Given the description of an element on the screen output the (x, y) to click on. 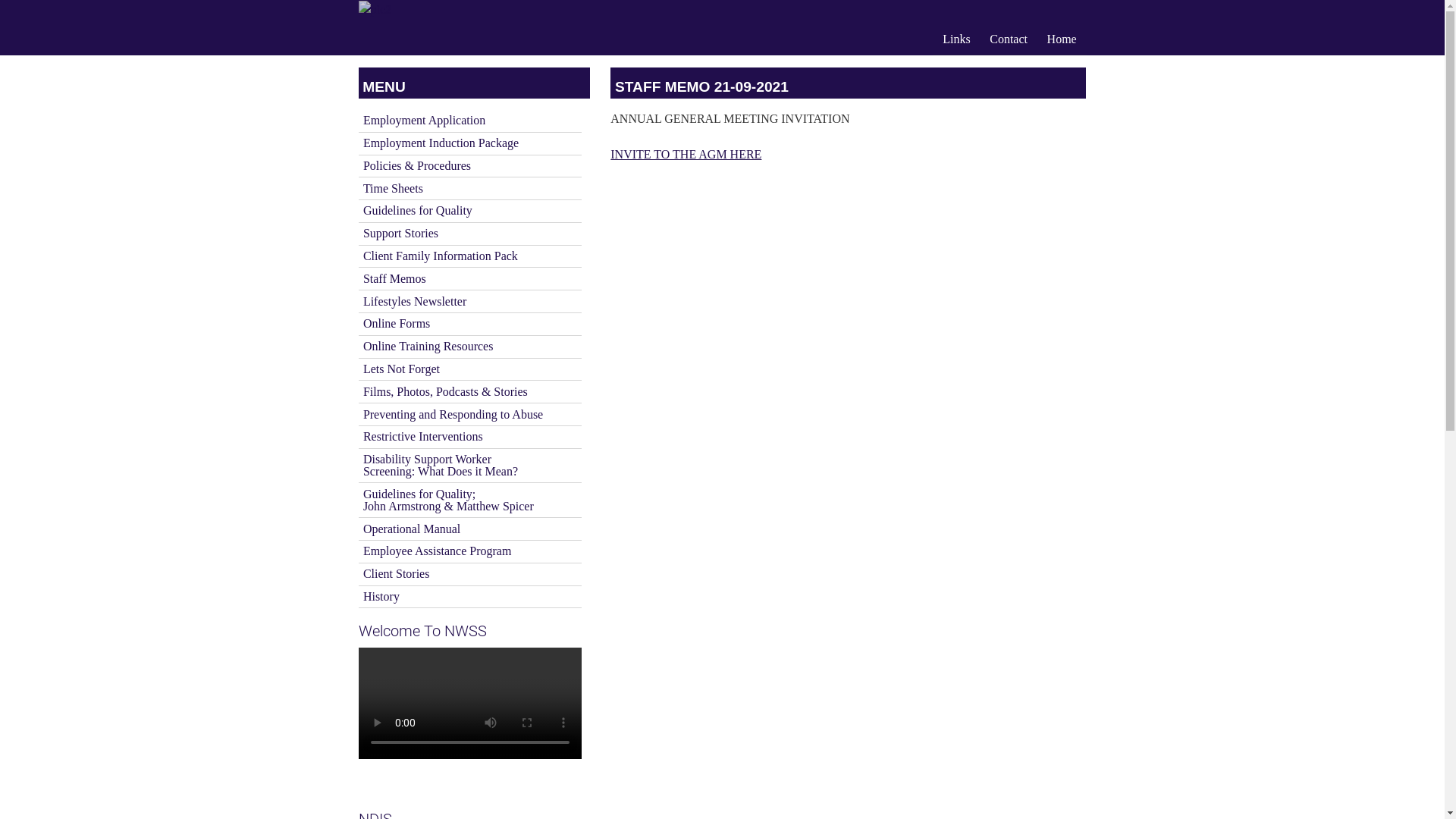
Preventing and Responding to Abuse Element type: text (468, 414)
History Element type: text (468, 597)
Films, Photos, Podcasts & Stories Element type: text (468, 391)
Online Training Resources Element type: text (468, 346)
Employment Induction Package Element type: text (468, 143)
Contact Element type: text (1007, 39)
Employment Application Element type: text (468, 120)
Support Stories Element type: text (468, 233)
Restrictive Interventions Element type: text (468, 437)
Lets Not Forget Element type: text (468, 369)
Lifestyles Newsletter Element type: text (468, 301)
Operational Manual Element type: text (468, 528)
Links Element type: text (955, 39)
Client Stories Element type: text (468, 574)
Client Family Information Pack Element type: text (468, 256)
Home Element type: text (1061, 39)
Skip to content Element type: text (357, 18)
Guidelines for Quality Element type: text (468, 211)
Guidelines for Quality;
John Armstrong & Matthew Spicer Element type: text (468, 500)
Employee Assistance Program Element type: text (468, 551)
Staff Memos Element type: text (468, 278)
Search Element type: text (31, 14)
Policies & Procedures Element type: text (468, 166)
INVITE TO THE AGM HERE Element type: text (685, 153)
Disability Support Worker
Screening: What Does it Mean? Element type: text (468, 465)
Skip to content Element type: text (357, 66)
Online Forms Element type: text (468, 324)
Time Sheets Element type: text (468, 188)
